Given the description of an element on the screen output the (x, y) to click on. 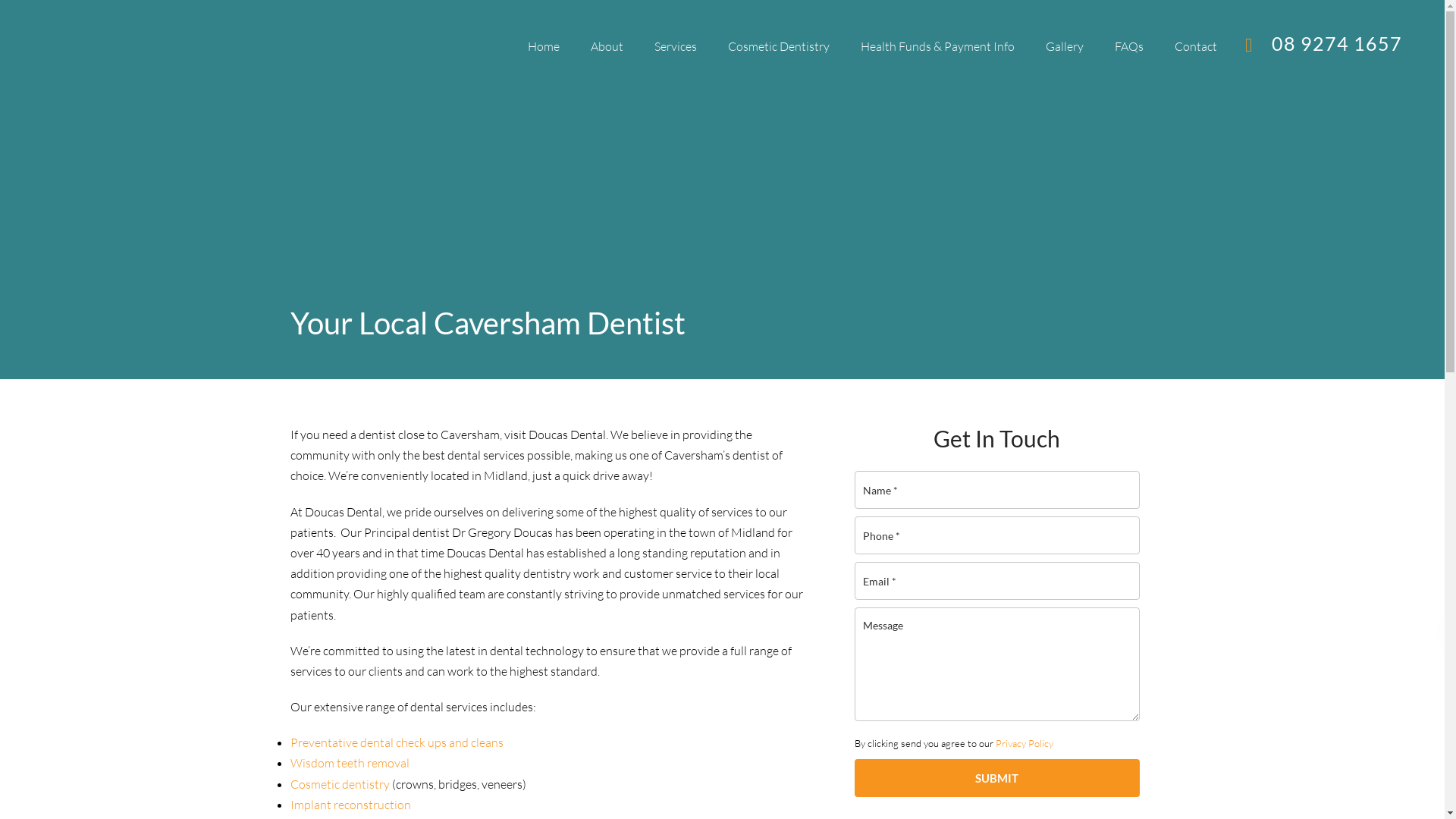
Contact Element type: text (1195, 46)
FAQs Element type: text (1128, 46)
Cosmetic Dentistry Element type: text (778, 46)
Services Element type: text (675, 46)
Implant reconstruction Element type: text (349, 804)
Wisdom teeth removal Element type: text (348, 762)
Gallery Element type: text (1064, 46)
Home Element type: text (543, 46)
08 9274 1657 Element type: text (1336, 42)
Submit Element type: text (996, 778)
Health Funds & Payment Info Element type: text (937, 46)
Cosmetic dentistry Element type: text (339, 783)
Privacy Policy Element type: text (1023, 743)
Doucas Dental Element type: text (175, 45)
Preventative dental check ups and cleans Element type: text (395, 741)
About Element type: text (606, 46)
